Given the description of an element on the screen output the (x, y) to click on. 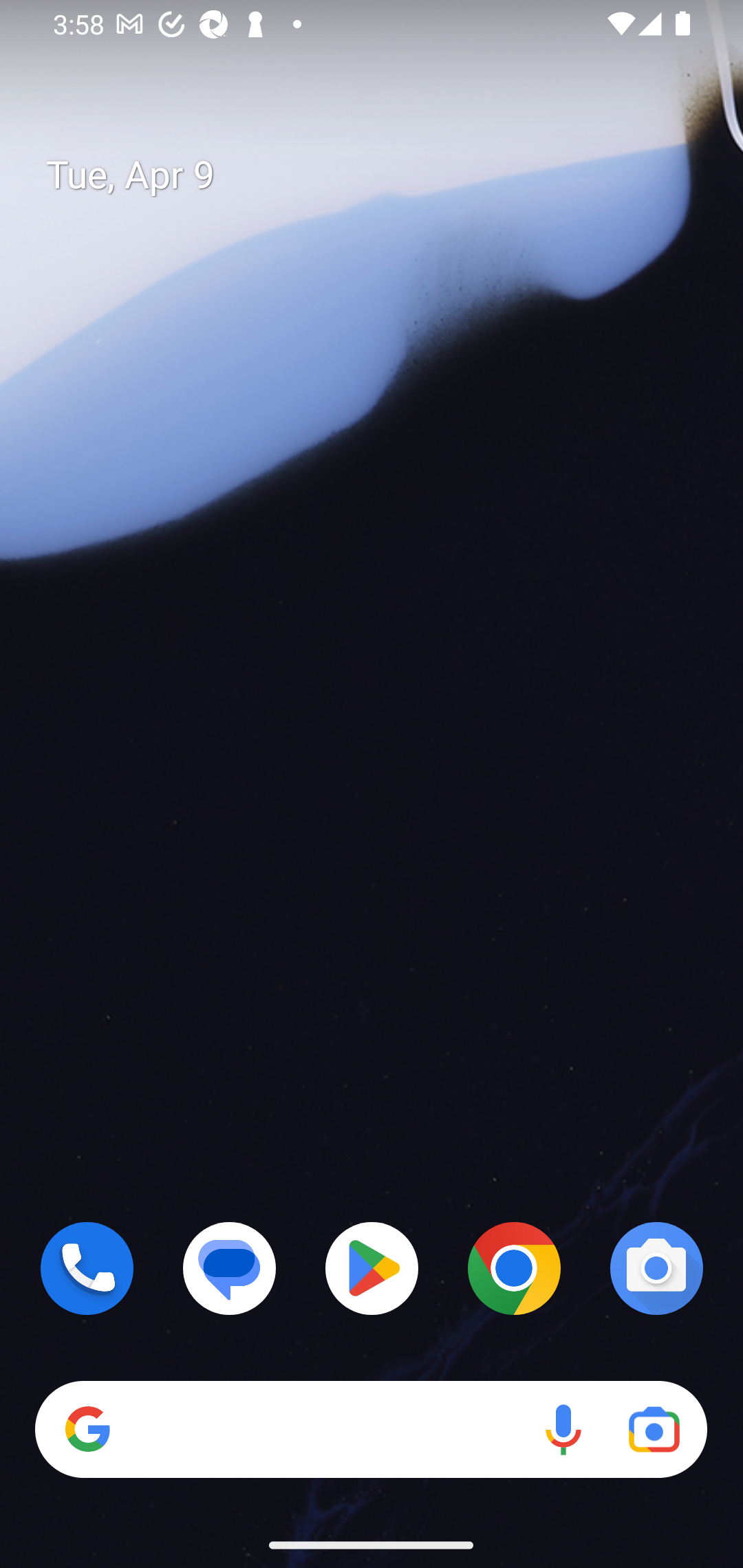
Tue, Apr 9 (386, 175)
Phone (86, 1268)
Messages (229, 1268)
Play Store (371, 1268)
Chrome (513, 1268)
Camera (656, 1268)
Search Voice search Google Lens (370, 1429)
Voice search (562, 1429)
Google Lens (653, 1429)
